Given the description of an element on the screen output the (x, y) to click on. 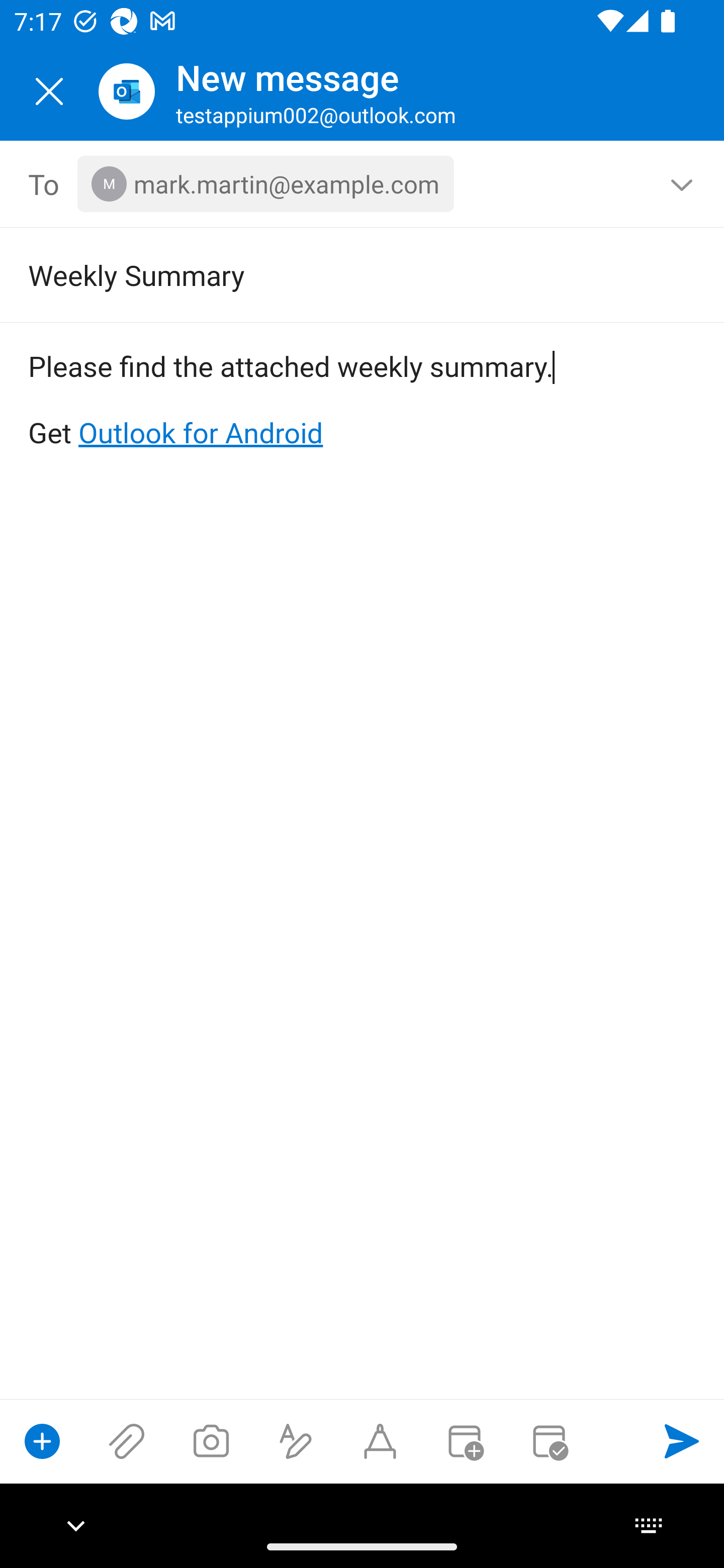
Close (49, 91)
To, 1 recipient <mark.martin@example.com> (362, 184)
Weekly Summary (333, 274)
Show compose options (42, 1440)
Attach files (126, 1440)
Take a photo (210, 1440)
Show formatting options (295, 1440)
Start Ink compose (380, 1440)
Convert to event (464, 1440)
Send availability (548, 1440)
Send (681, 1440)
